Given the description of an element on the screen output the (x, y) to click on. 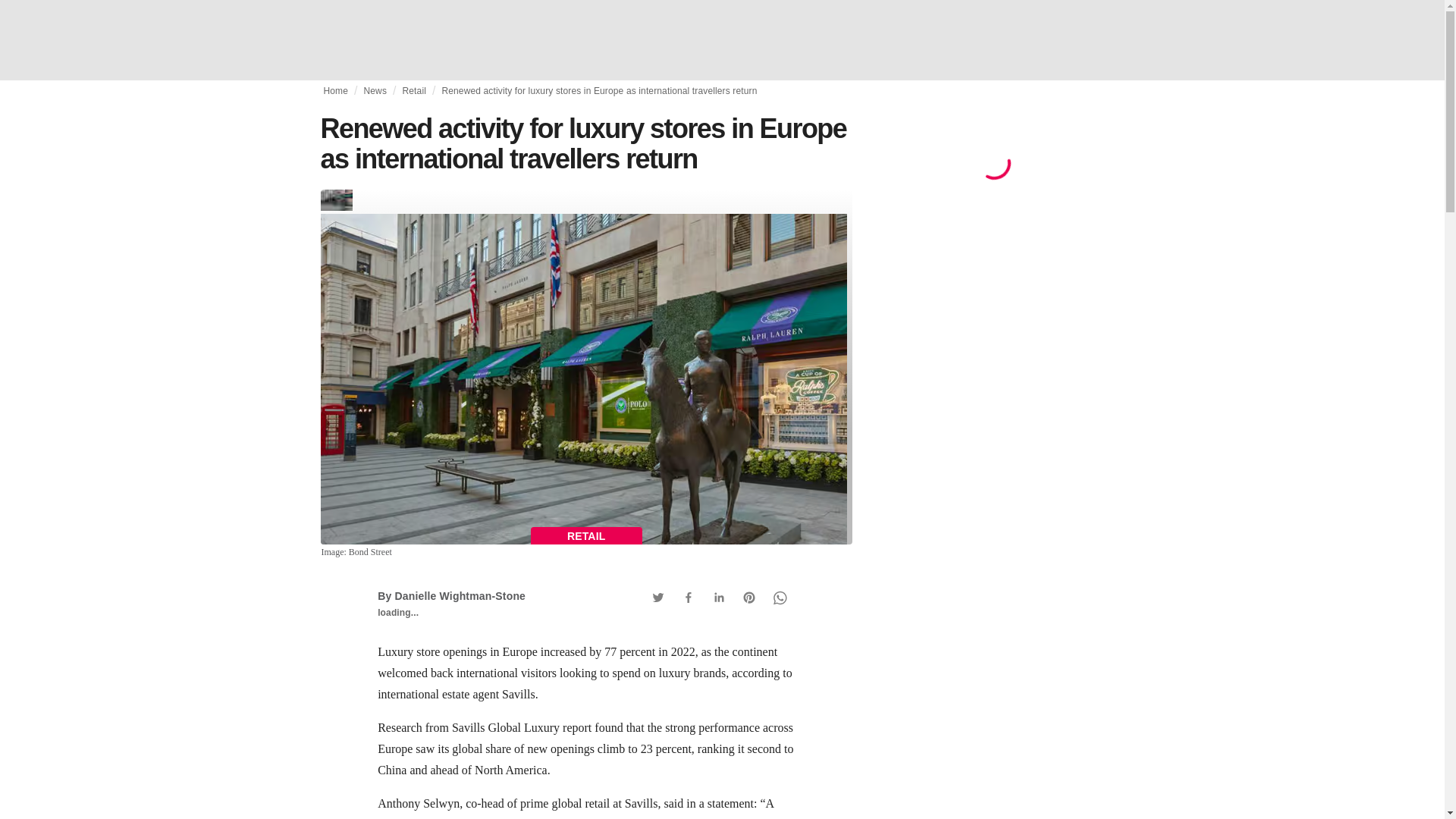
Home (335, 90)
News (375, 90)
Retail (413, 90)
By Danielle Wightman-Stone (451, 595)
